Given the description of an element on the screen output the (x, y) to click on. 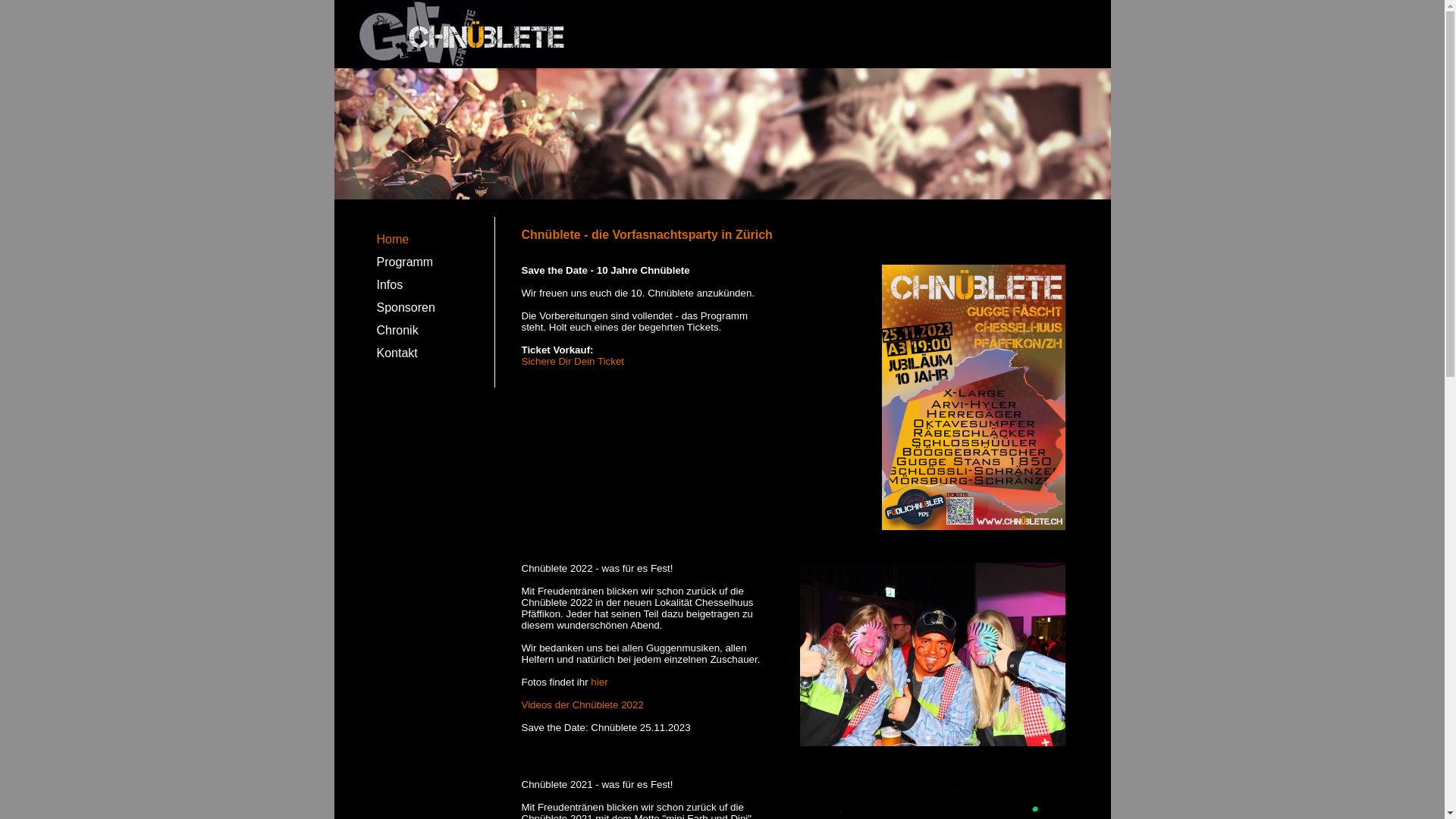
Sichere Dir Dein Ticket Element type: text (572, 361)
hier Element type: text (598, 681)
